Given the description of an element on the screen output the (x, y) to click on. 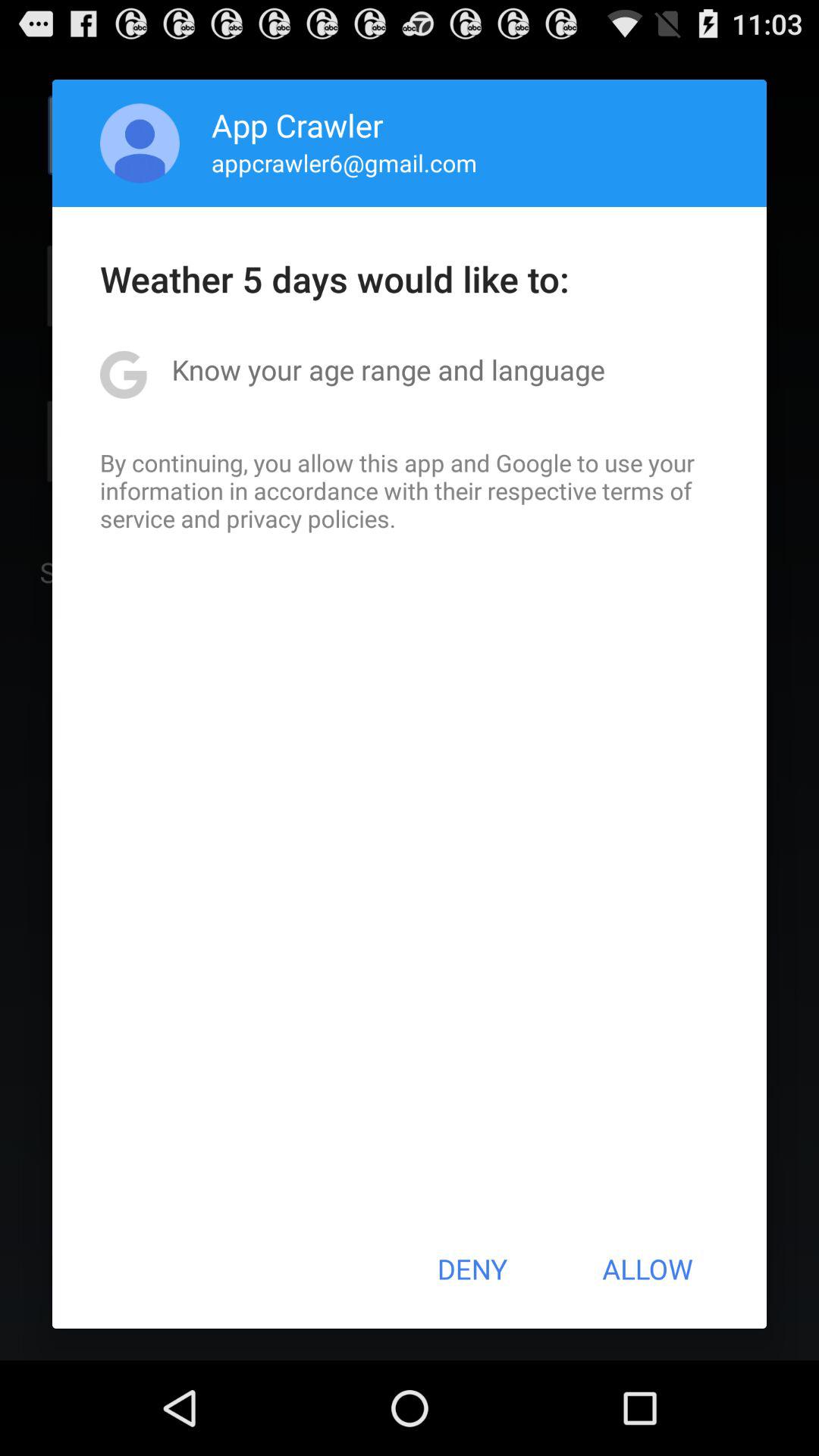
turn on app crawler app (297, 124)
